Given the description of an element on the screen output the (x, y) to click on. 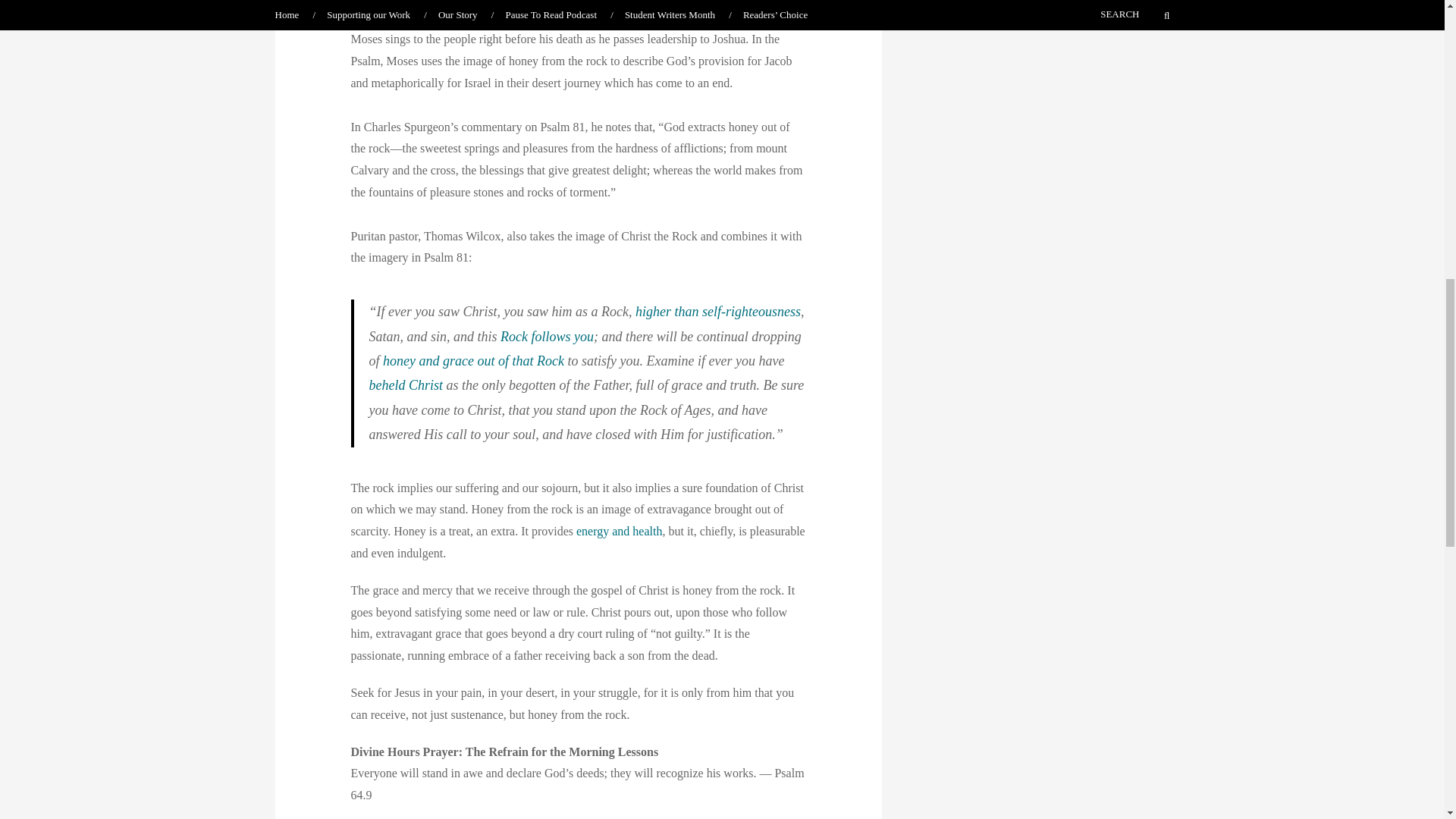
honey and grace out of that Rock (473, 360)
Rock follows you (547, 336)
beheld Christ (405, 385)
energy and health (619, 530)
Song of Moses (557, 17)
higher than self-righteousness (717, 311)
